Given the description of an element on the screen output the (x, y) to click on. 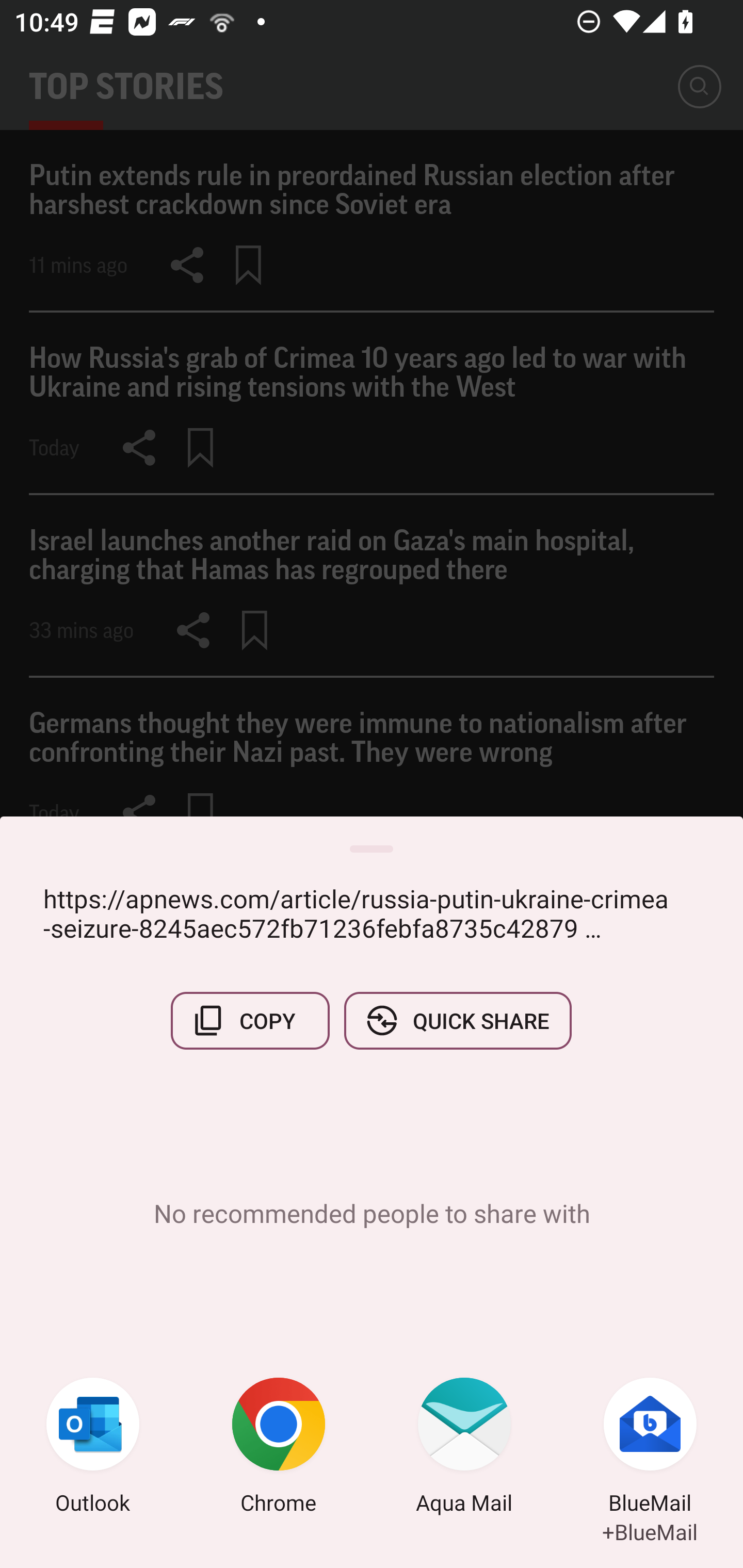
COPY (249, 1020)
QUICK SHARE (457, 1020)
Outlook (92, 1448)
Chrome (278, 1448)
Aqua Mail (464, 1448)
BlueMail +BlueMail (650, 1448)
